Given the description of an element on the screen output the (x, y) to click on. 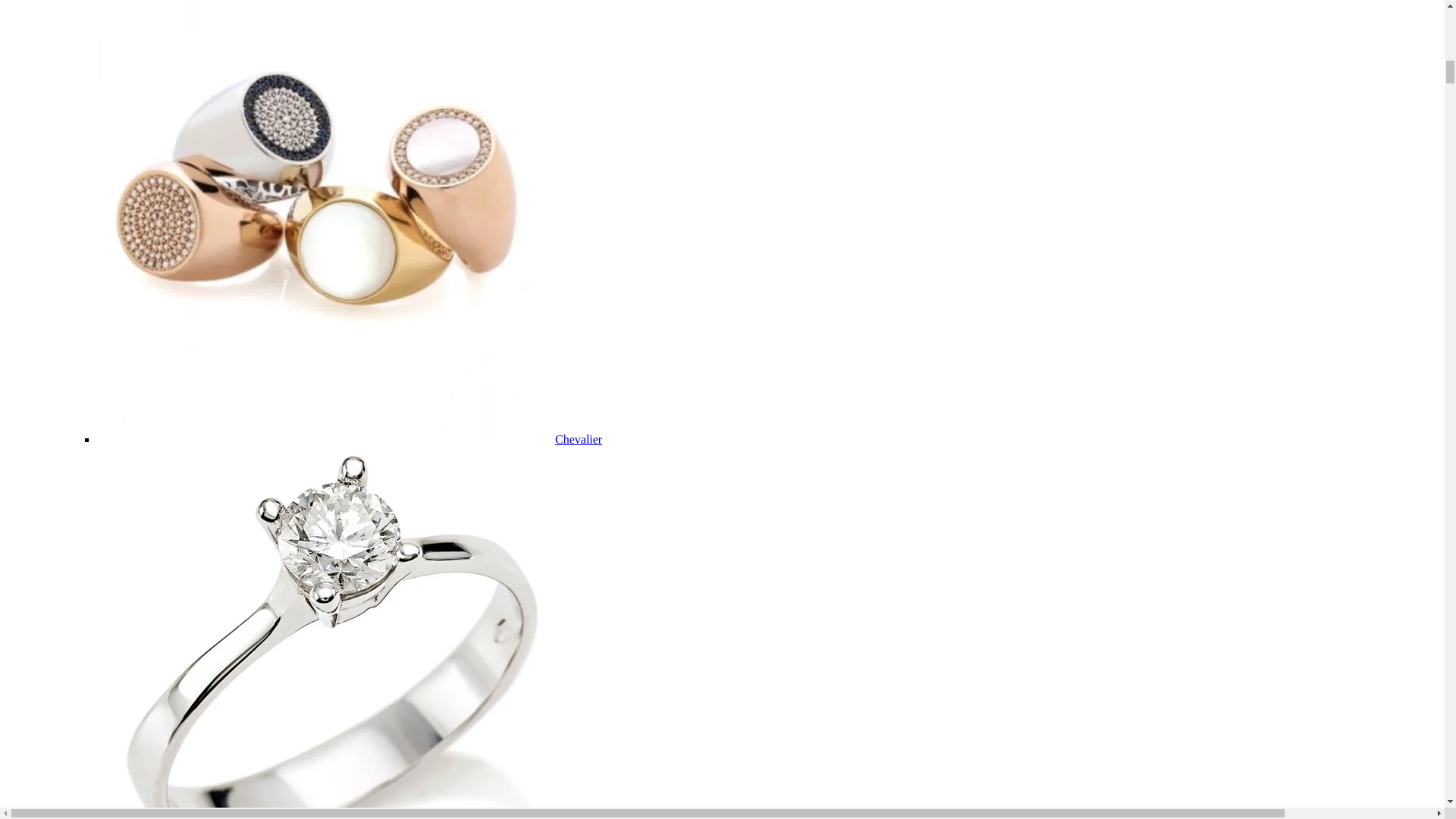
Chevalier (578, 439)
